Given the description of an element on the screen output the (x, y) to click on. 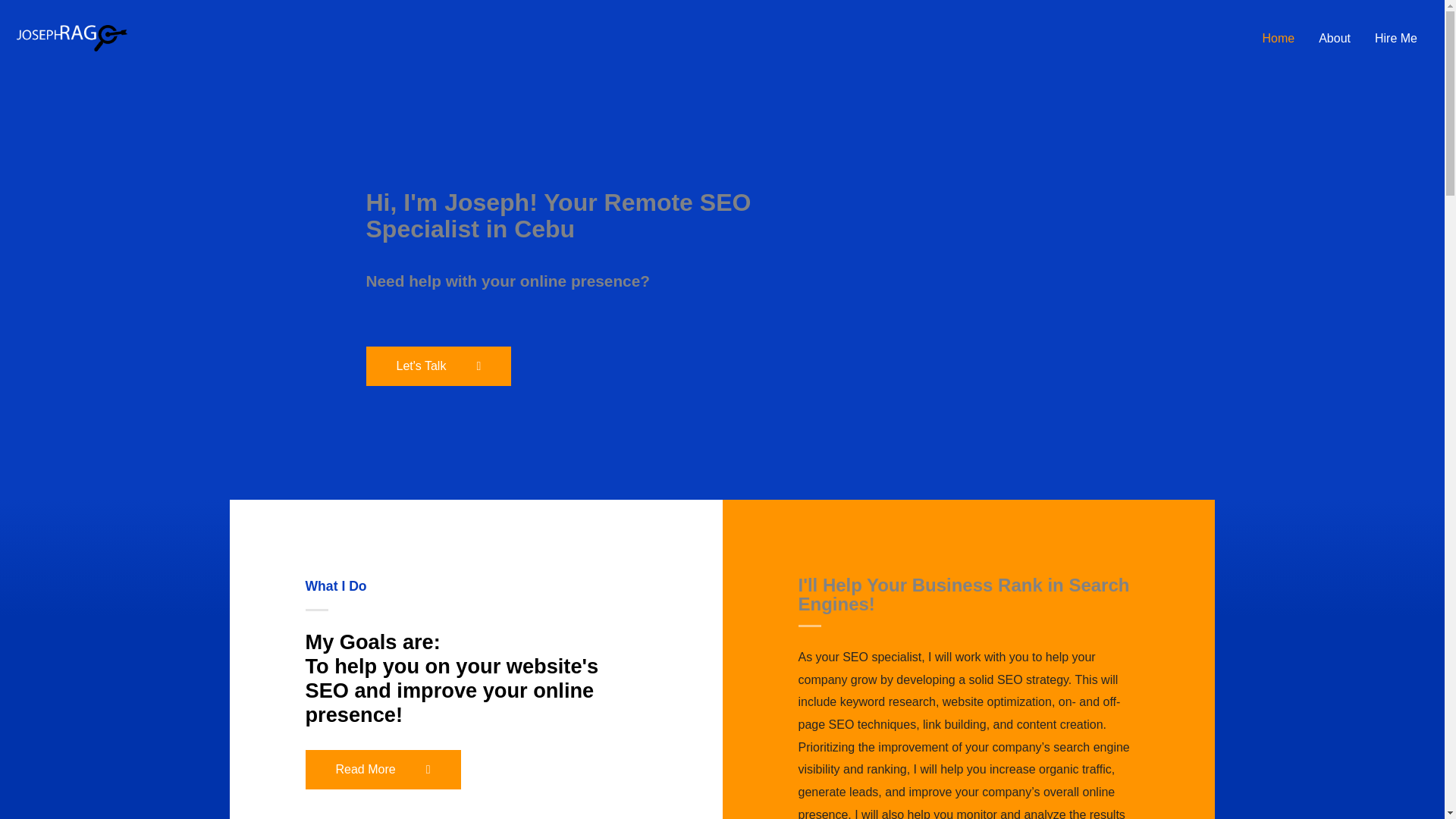
Home (1277, 38)
Let's Talk (438, 365)
About (1334, 38)
Read More (382, 769)
Hire Me (1395, 38)
